Given the description of an element on the screen output the (x, y) to click on. 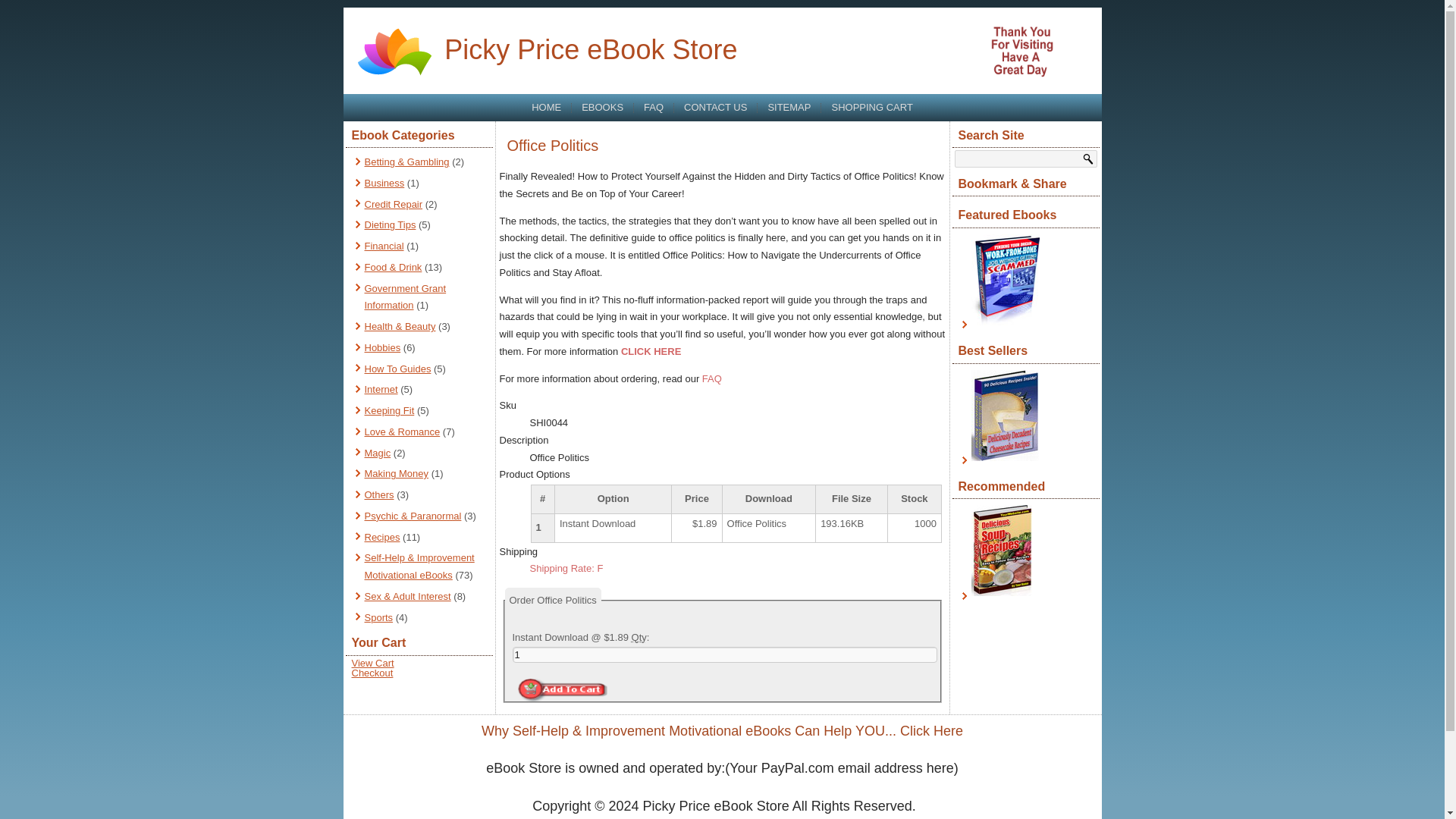
Credit Repair (393, 204)
Contact us (715, 107)
Shipping Rate: F (565, 568)
SITEMAP (788, 107)
Picky Price eBook Store (590, 49)
Others (378, 494)
1 (724, 653)
CLICK HERE (651, 351)
SHOPPING CART (871, 107)
HOME (546, 107)
View Cart (373, 663)
Keeping Fit (388, 410)
EBOOKS (601, 107)
Making Money (396, 473)
FAQ (711, 378)
